Given the description of an element on the screen output the (x, y) to click on. 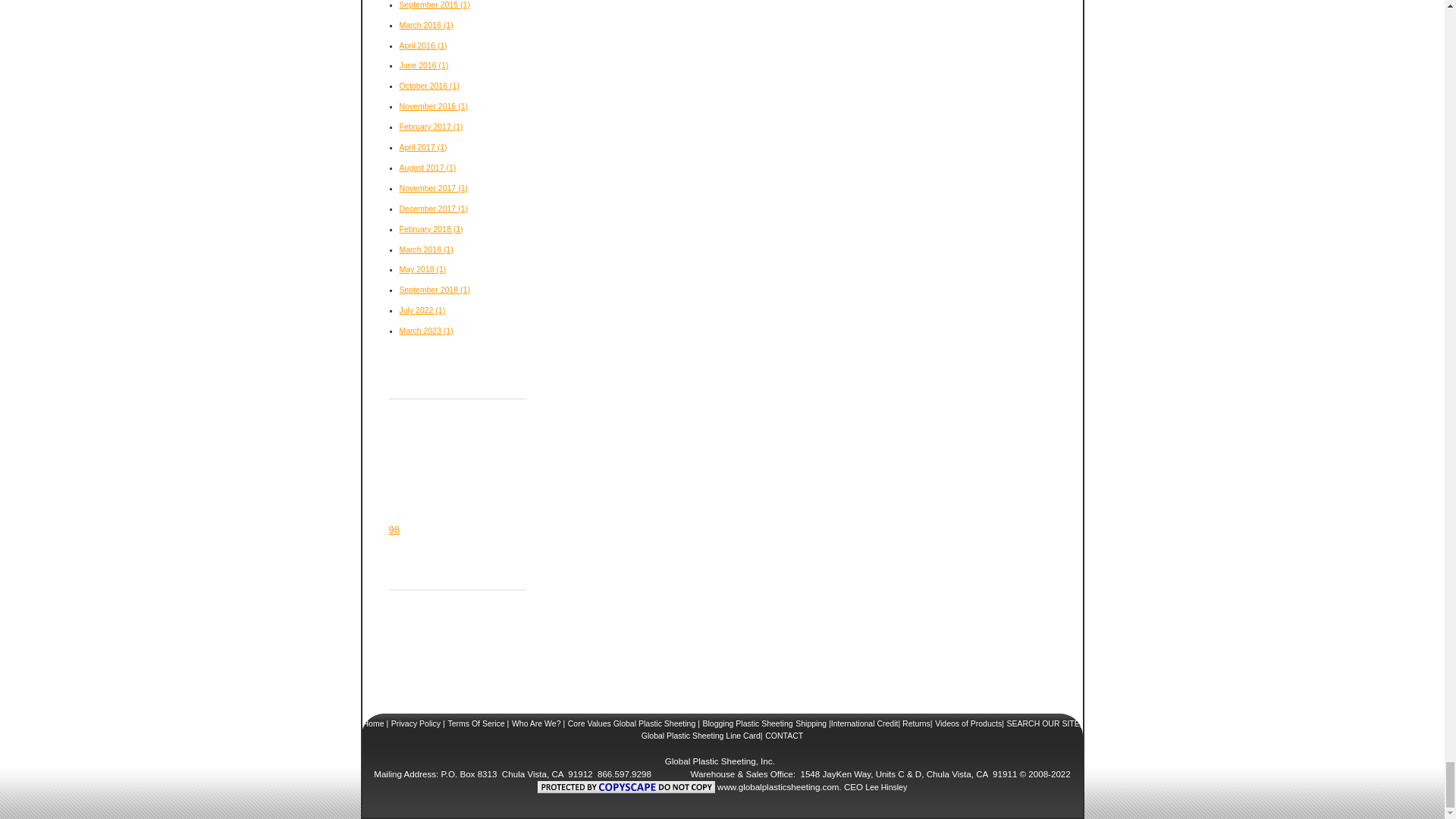
View more services (393, 529)
fb:like Facebook Social Plugin (417, 444)
fb:send Facebook Social Plugin (408, 488)
Twitter Tweet Button (429, 414)
